Given the description of an element on the screen output the (x, y) to click on. 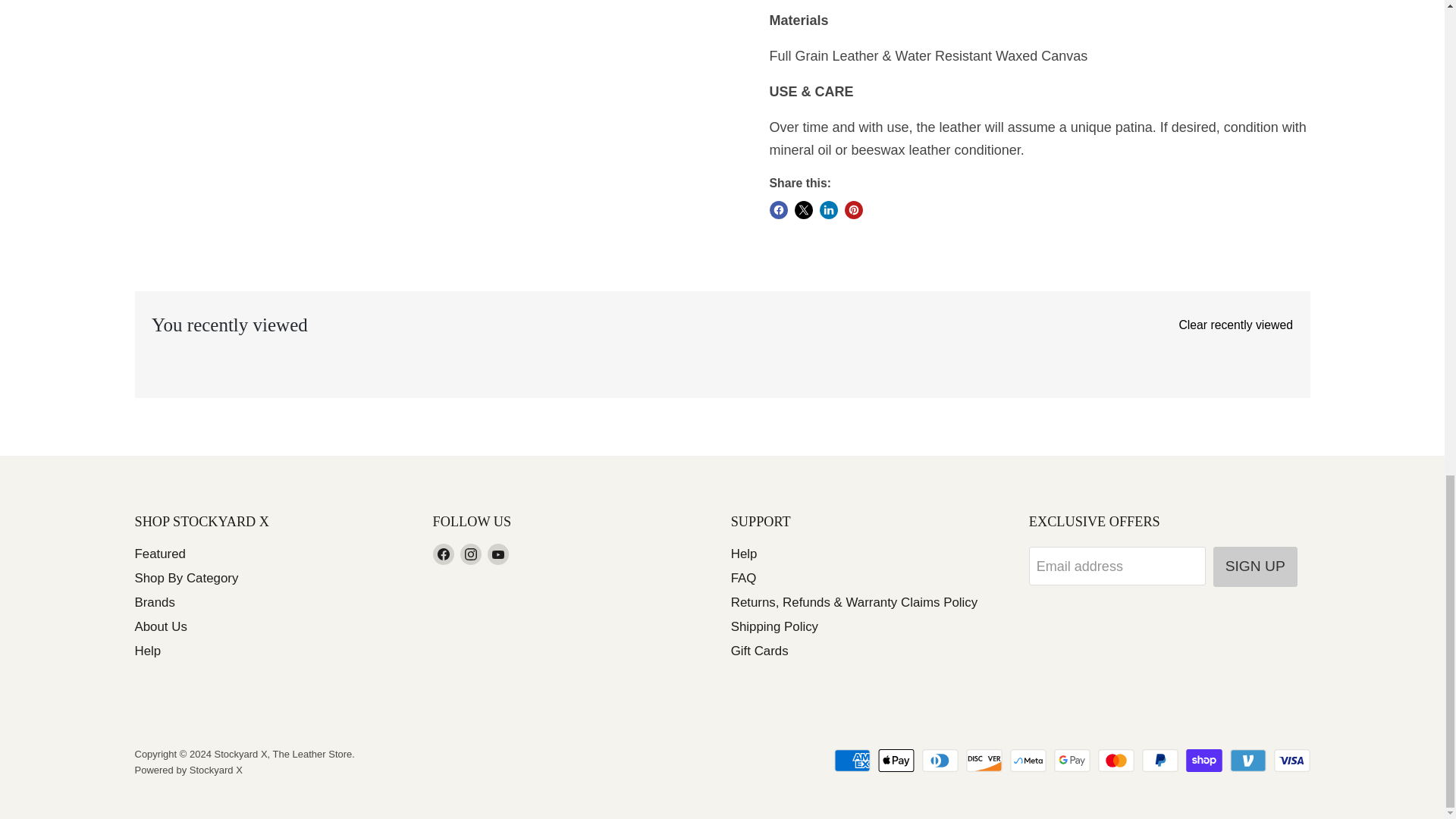
Apple Pay (895, 760)
Instagram (470, 554)
American Express (852, 760)
YouTube (497, 554)
Facebook (443, 554)
